Given the description of an element on the screen output the (x, y) to click on. 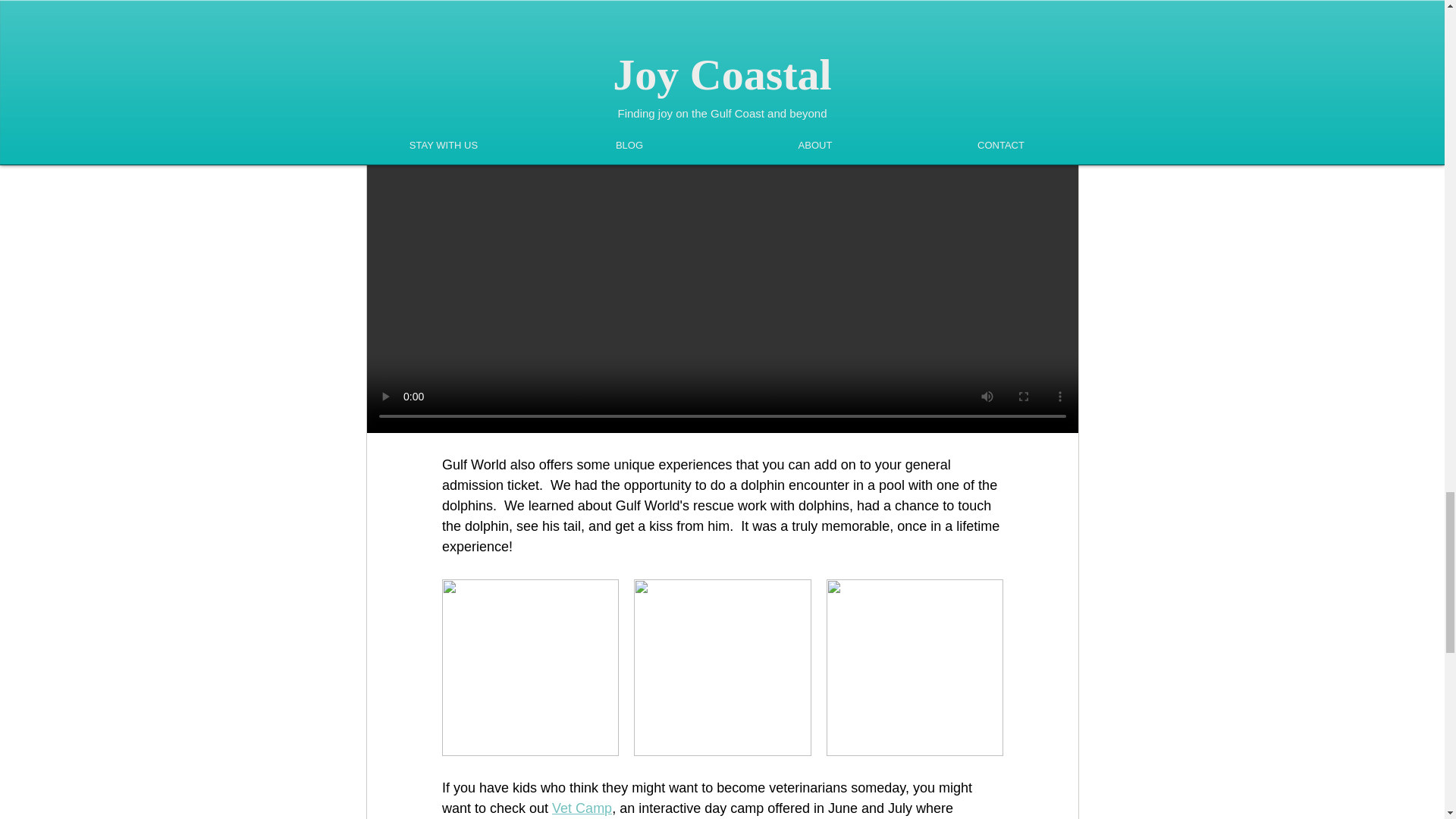
Vet Camp (581, 807)
